Given the description of an element on the screen output the (x, y) to click on. 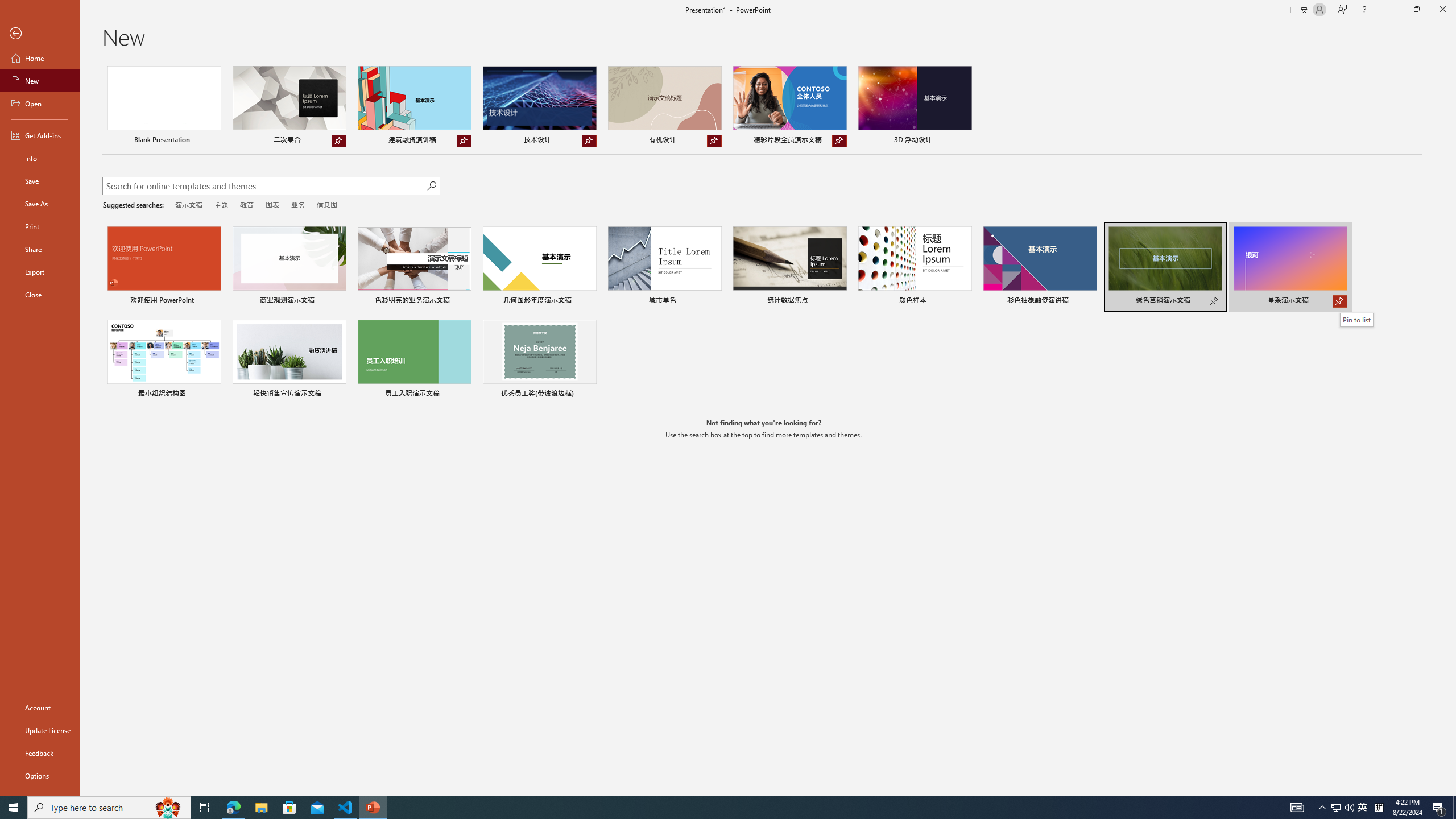
New (40, 80)
Account (40, 707)
